Given the description of an element on the screen output the (x, y) to click on. 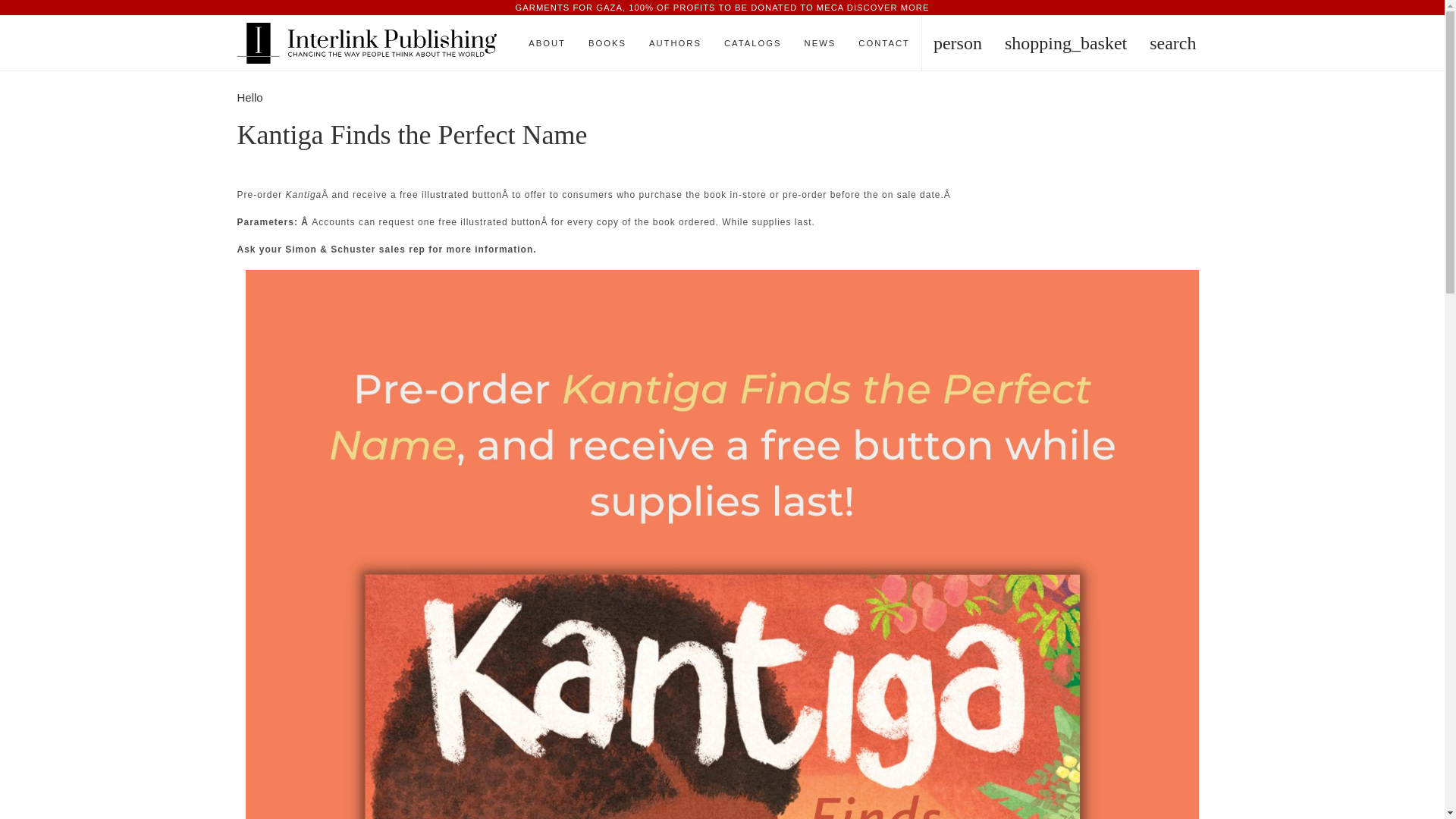
NEWS (820, 43)
DISCOVER MORE (888, 7)
ABOUT (546, 43)
CONTACT (884, 43)
person (956, 43)
BOOKS (606, 43)
CATALOGS (753, 43)
search (1172, 43)
AUTHORS (675, 43)
